Given the description of an element on the screen output the (x, y) to click on. 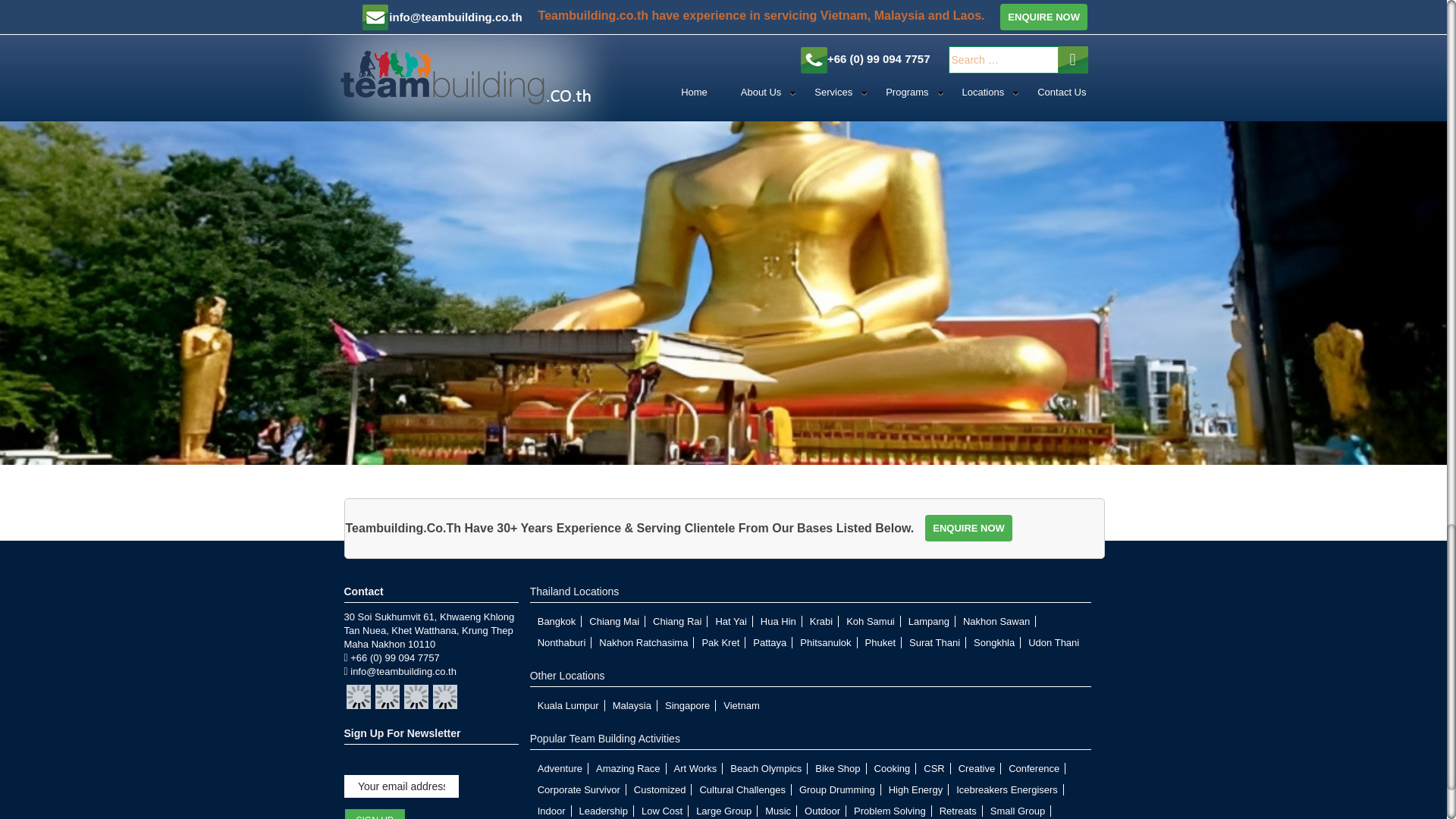
Follow Us on Instagram (444, 696)
Follow Us on Twitter (386, 696)
Follow Us on YouTube (415, 696)
Follow Us on Facebook (357, 696)
